Given the description of an element on the screen output the (x, y) to click on. 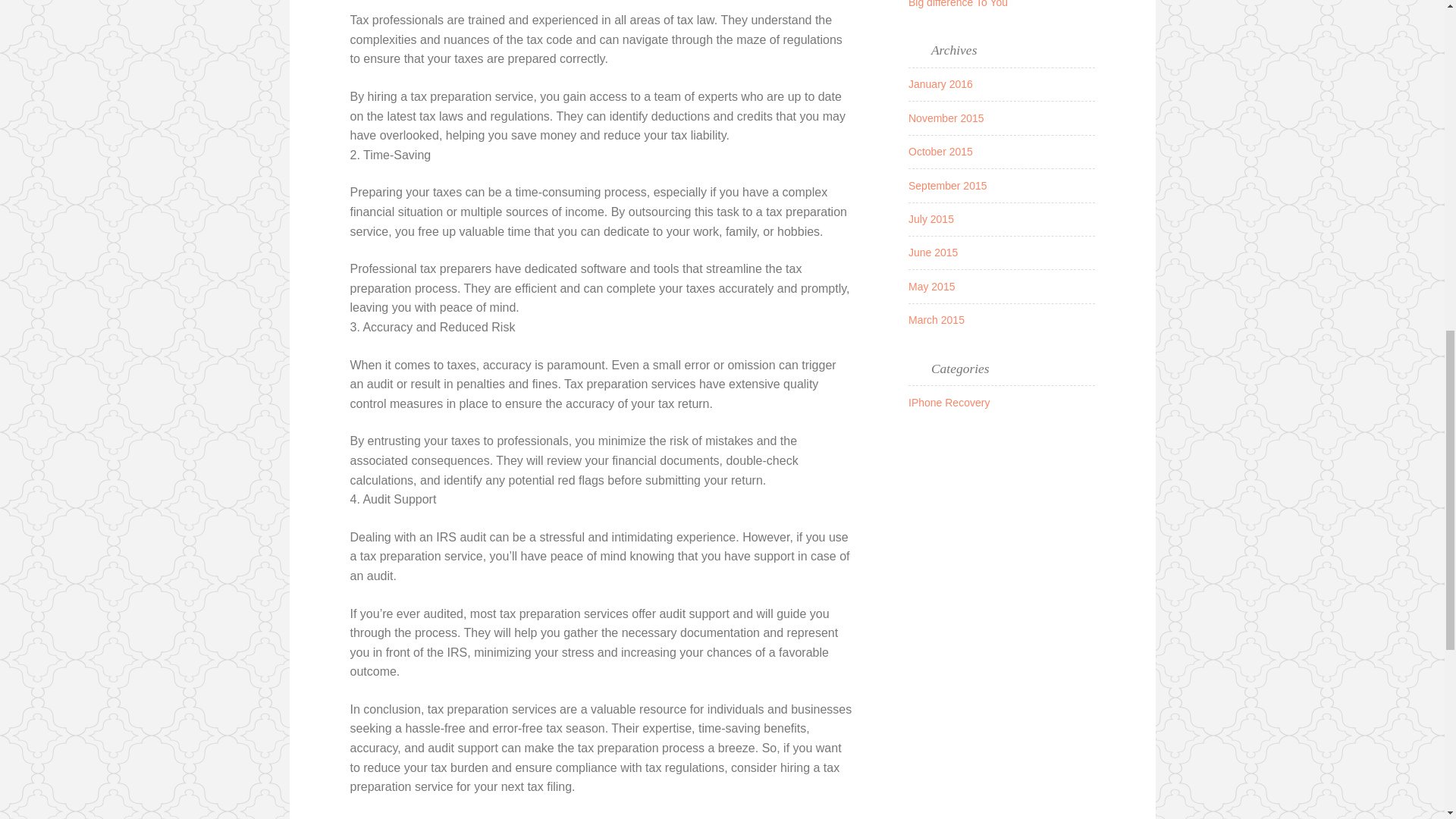
March 2015 (935, 319)
September 2015 (947, 185)
May 2015 (931, 286)
IPhone Recovery (949, 402)
June 2015 (933, 252)
January 2016 (940, 83)
October 2015 (940, 151)
The Iphone And How It Can Make A Big difference To You (992, 3)
July 2015 (930, 218)
November 2015 (946, 118)
